Given the description of an element on the screen output the (x, y) to click on. 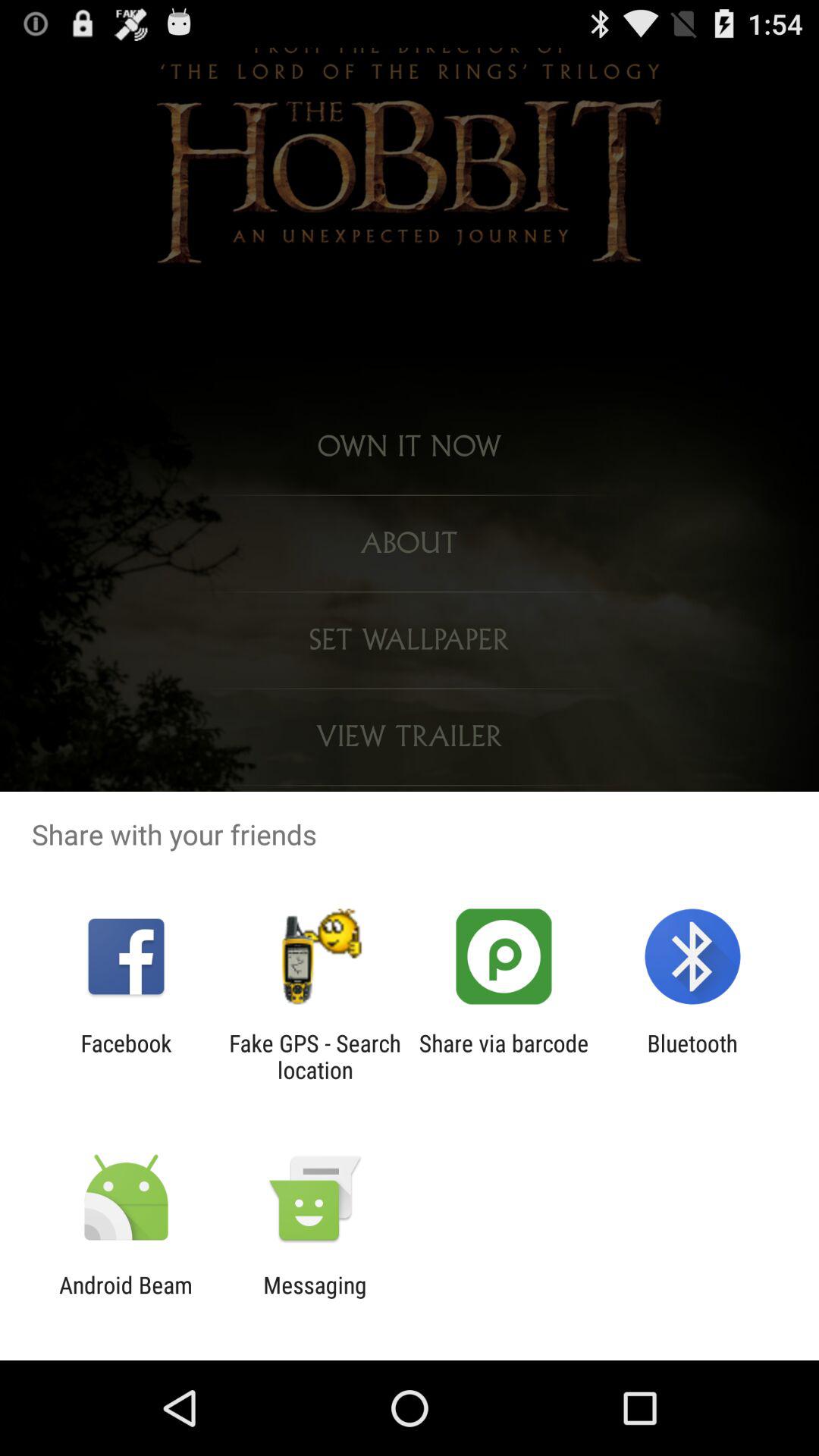
select item to the left of share via barcode app (314, 1056)
